Given the description of an element on the screen output the (x, y) to click on. 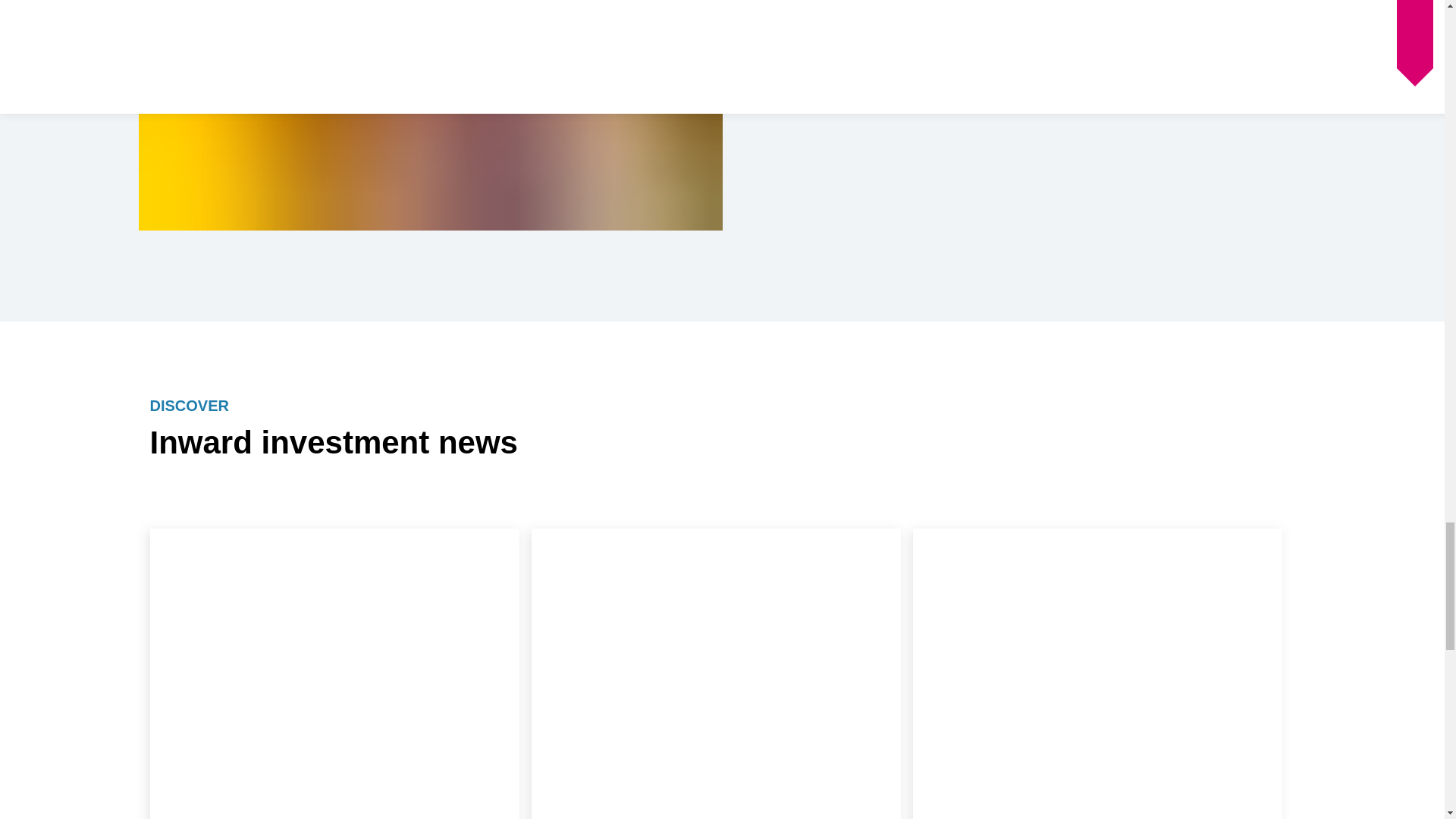
Contact the Inward Investment team (1013, 81)
